Given the description of an element on the screen output the (x, y) to click on. 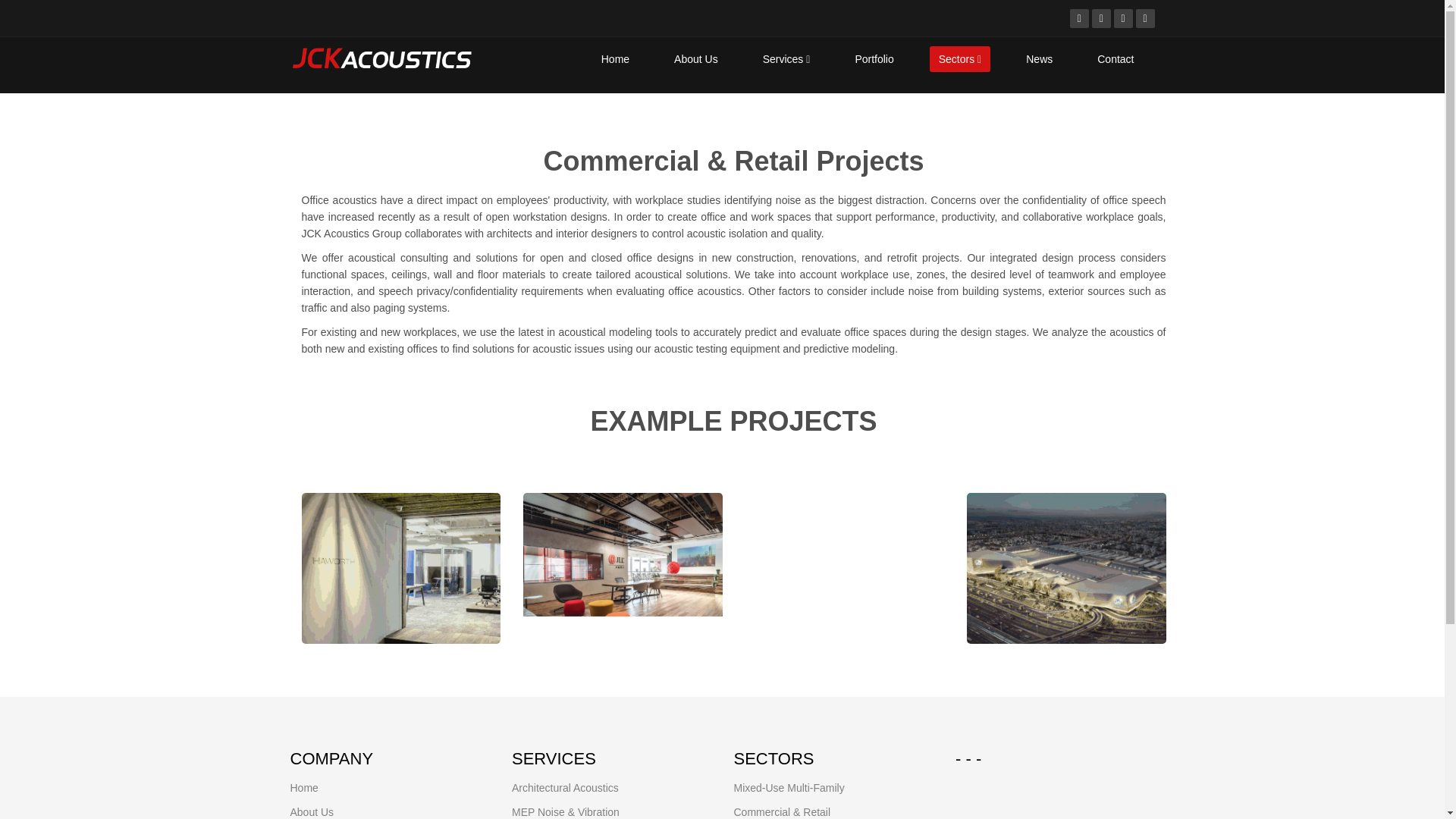
Services (786, 58)
Contact (1114, 58)
Home (303, 787)
News (1038, 58)
About Us (695, 58)
Architectural Acoustics (565, 787)
Portfolio (873, 58)
Home (615, 58)
About Us (311, 811)
Sectors (960, 58)
